Given the description of an element on the screen output the (x, y) to click on. 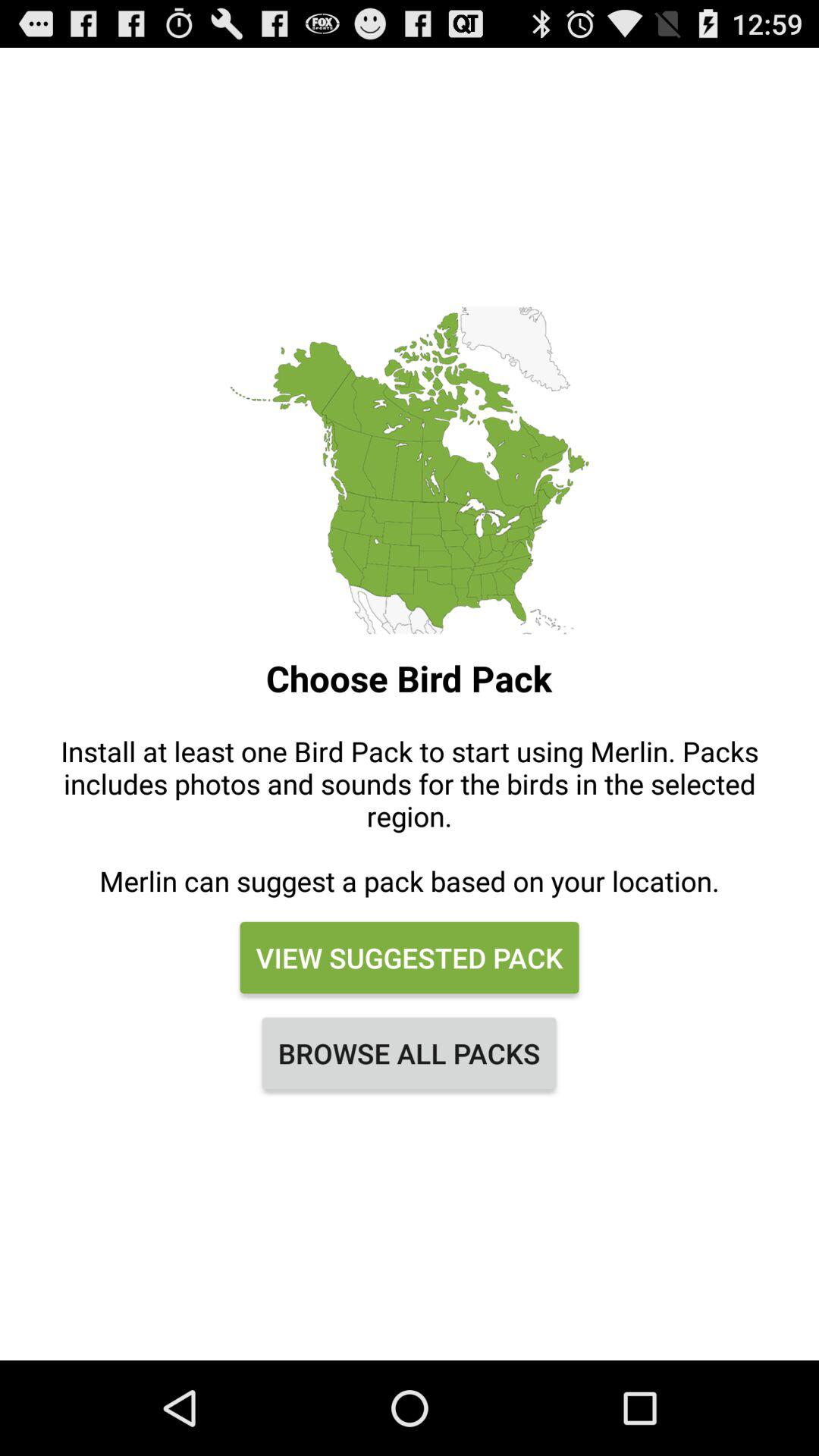
turn off the icon at the bottom (409, 1053)
